Given the description of an element on the screen output the (x, y) to click on. 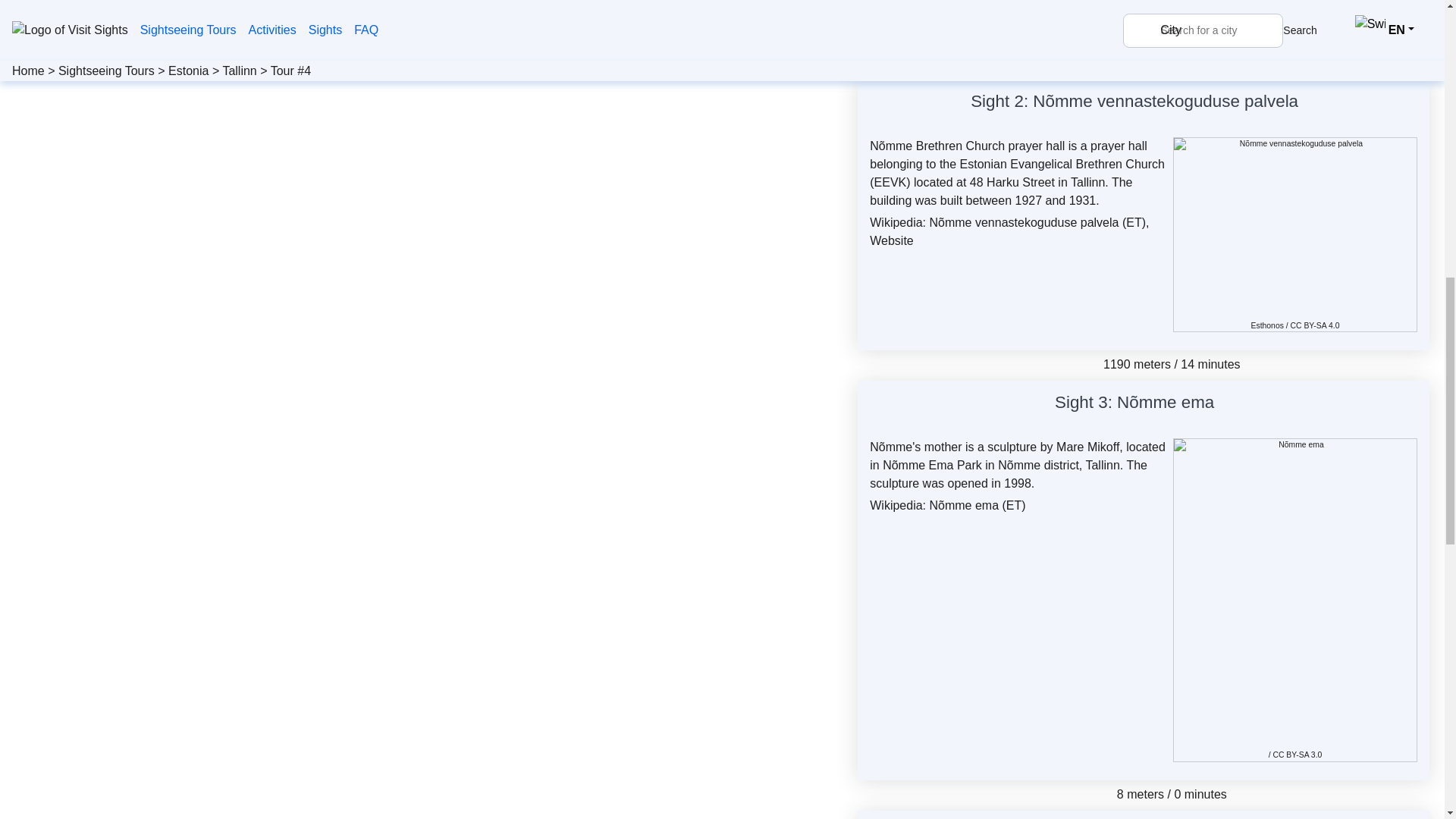
Show sight on map (1222, 404)
Website (891, 240)
CC BY-SA 4.0 (1314, 325)
Esthonos (1267, 325)
CC BY-SA 3.0 (1297, 755)
Show sight on map (1307, 104)
